Given the description of an element on the screen output the (x, y) to click on. 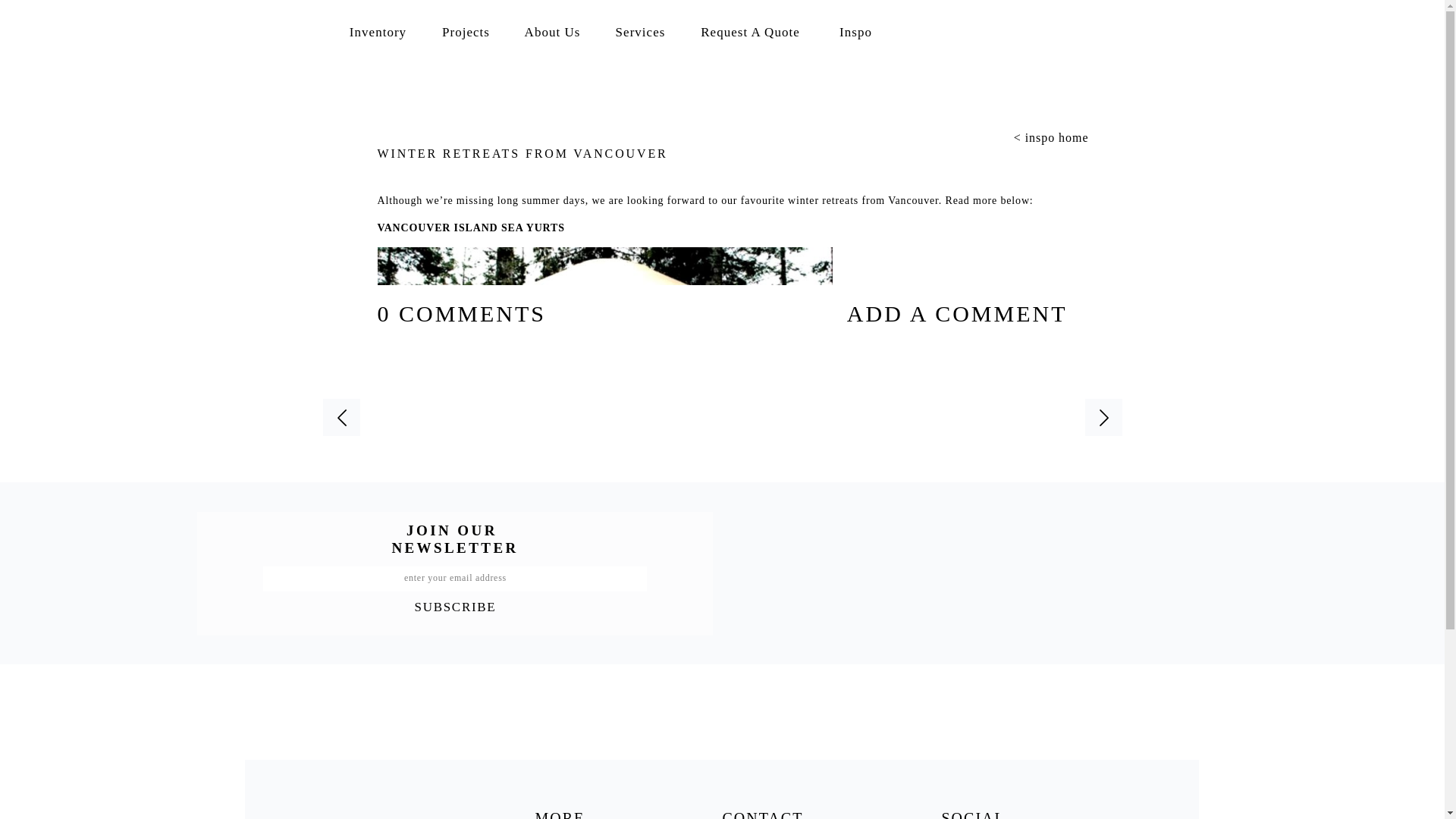
Services (640, 30)
SUBSCRIBE (454, 605)
ADD A COMMENT (920, 313)
0 COMMENTS (462, 313)
About Us (552, 30)
This (916, 573)
Glamping Hub (644, 573)
Request A Quote (750, 35)
Projects (465, 30)
Inventory (377, 30)
